Given the description of an element on the screen output the (x, y) to click on. 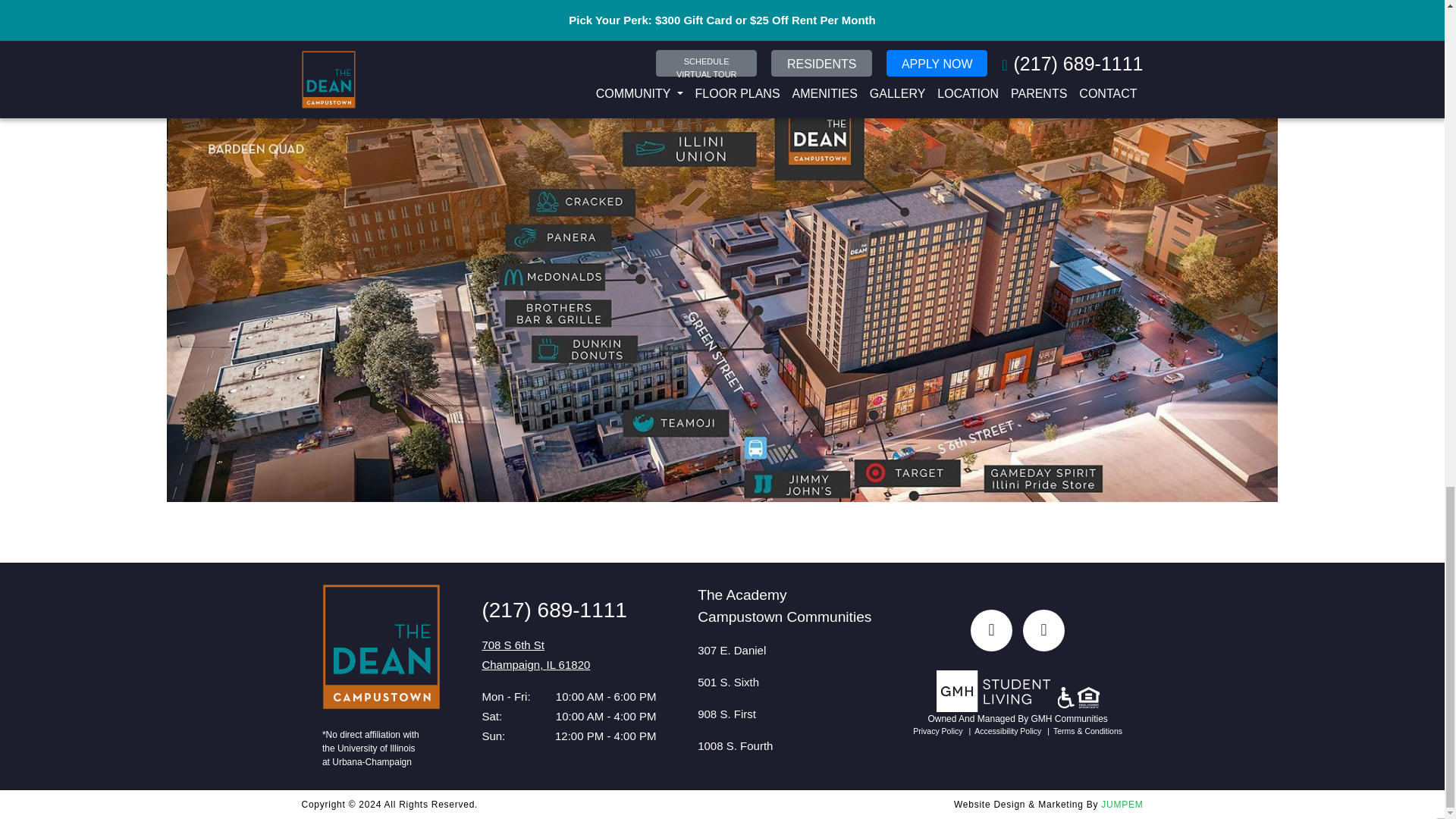
307 E. Daniel (731, 649)
501 S. Sixth (727, 681)
1008 S. Fourth (735, 745)
Privacy Policy (937, 730)
Website Design (1025, 804)
View Us On Facebook (991, 630)
Accessibility Policy (1003, 730)
908 S. First (726, 713)
View Us On Instagram (535, 654)
